Given the description of an element on the screen output the (x, y) to click on. 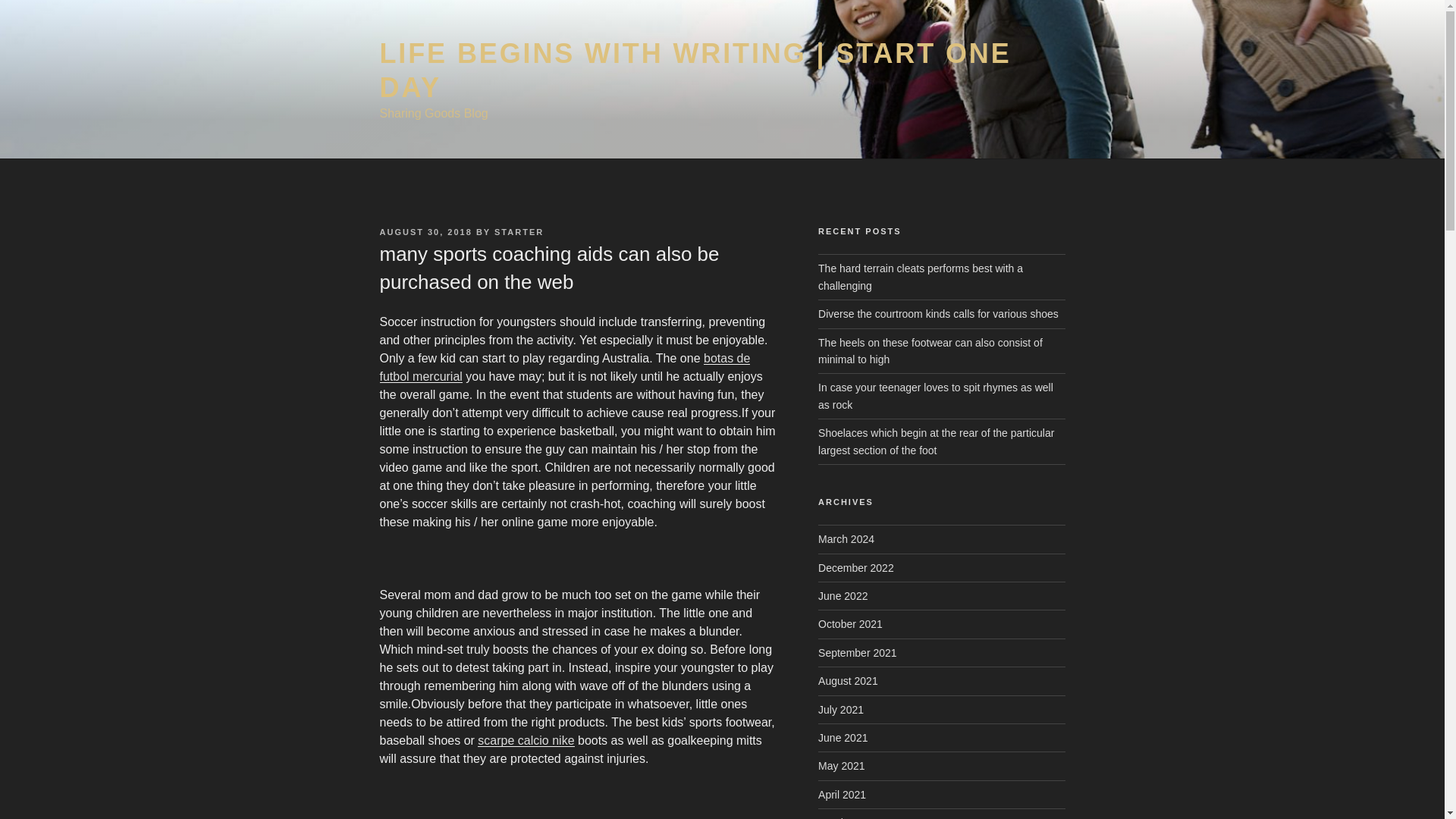
December 2022 (855, 567)
August 2021 (847, 680)
The hard terrain cleats performs best with a challenging (920, 276)
March 2024 (846, 539)
Diverse the courtroom kinds calls for various shoes (938, 313)
AUGUST 30, 2018 (424, 231)
scarpe calcio nike (525, 739)
September 2021 (857, 653)
June 2022 (842, 595)
April 2021 (842, 794)
botas de futbol mercurial (563, 367)
October 2020 (850, 817)
